Given the description of an element on the screen output the (x, y) to click on. 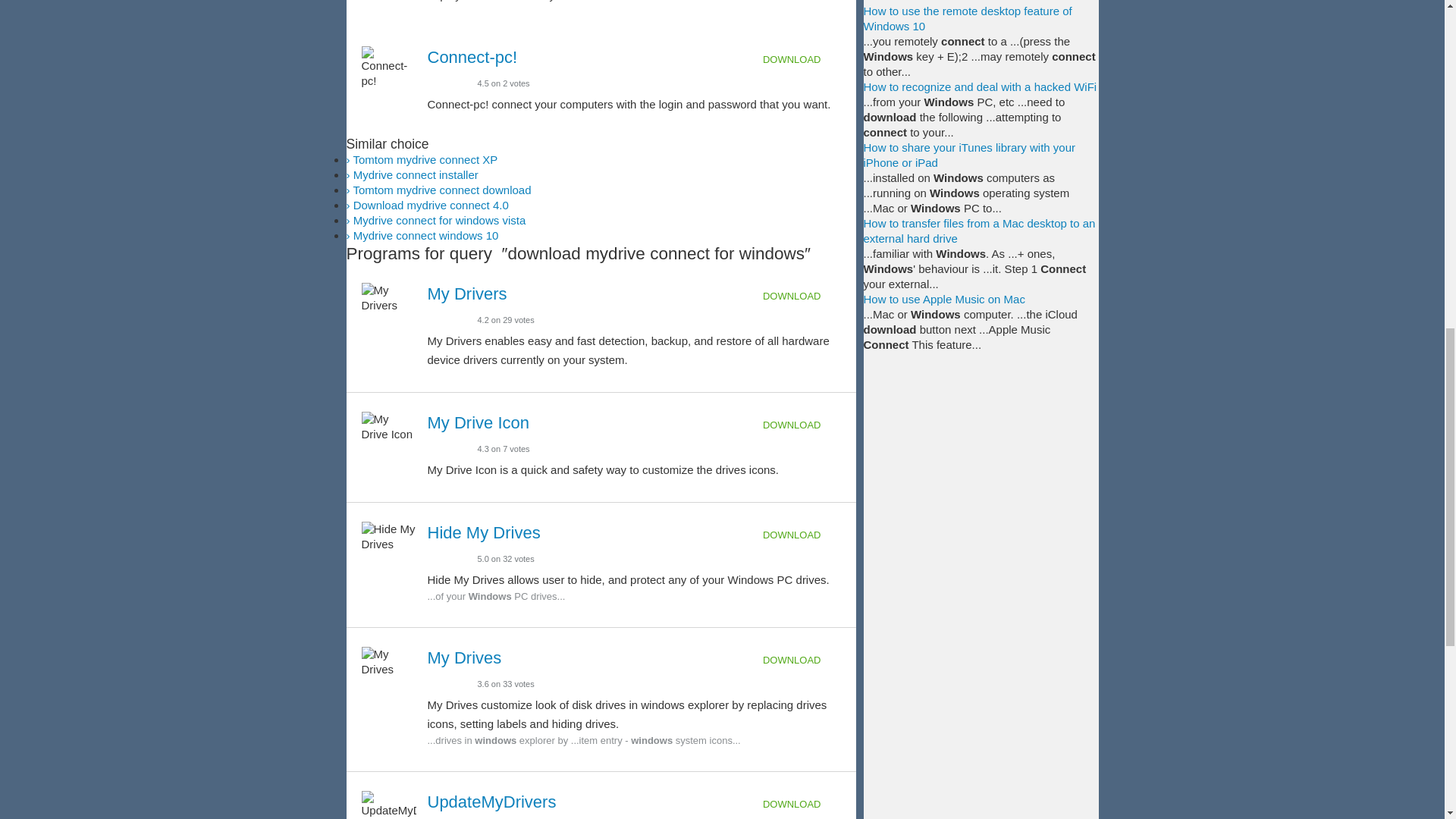
My Drive Icon (478, 422)
UpdateMyDrivers (492, 801)
DOWNLOAD (801, 59)
Connect-pc! (473, 56)
My Drivers (467, 293)
DOWNLOAD (801, 296)
Connect-pc! (473, 56)
My Drives (465, 657)
My Drivers (467, 293)
Hide My Drives (484, 532)
